Given the description of an element on the screen output the (x, y) to click on. 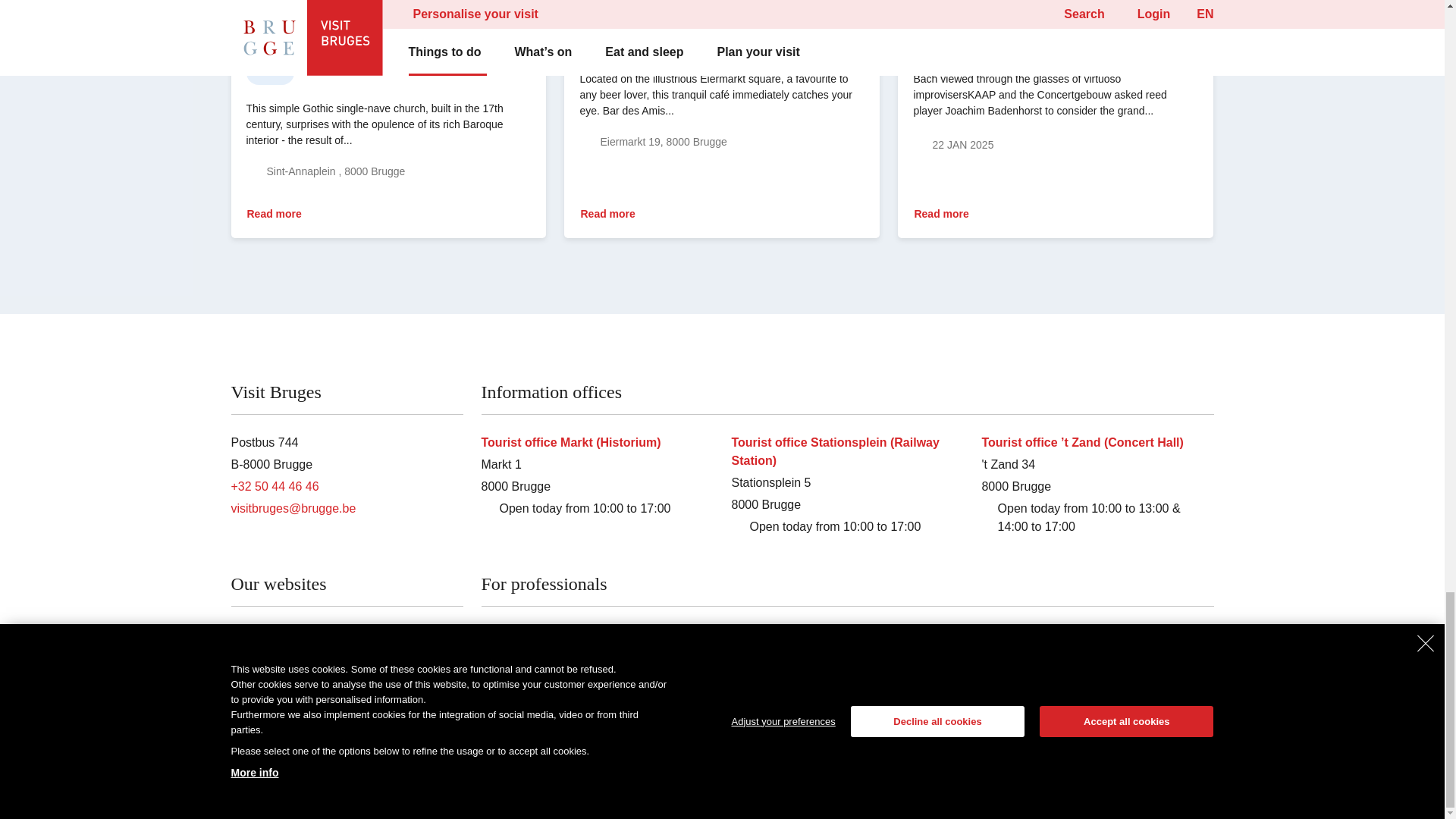
Bar des Amis (613, 213)
